Given the description of an element on the screen output the (x, y) to click on. 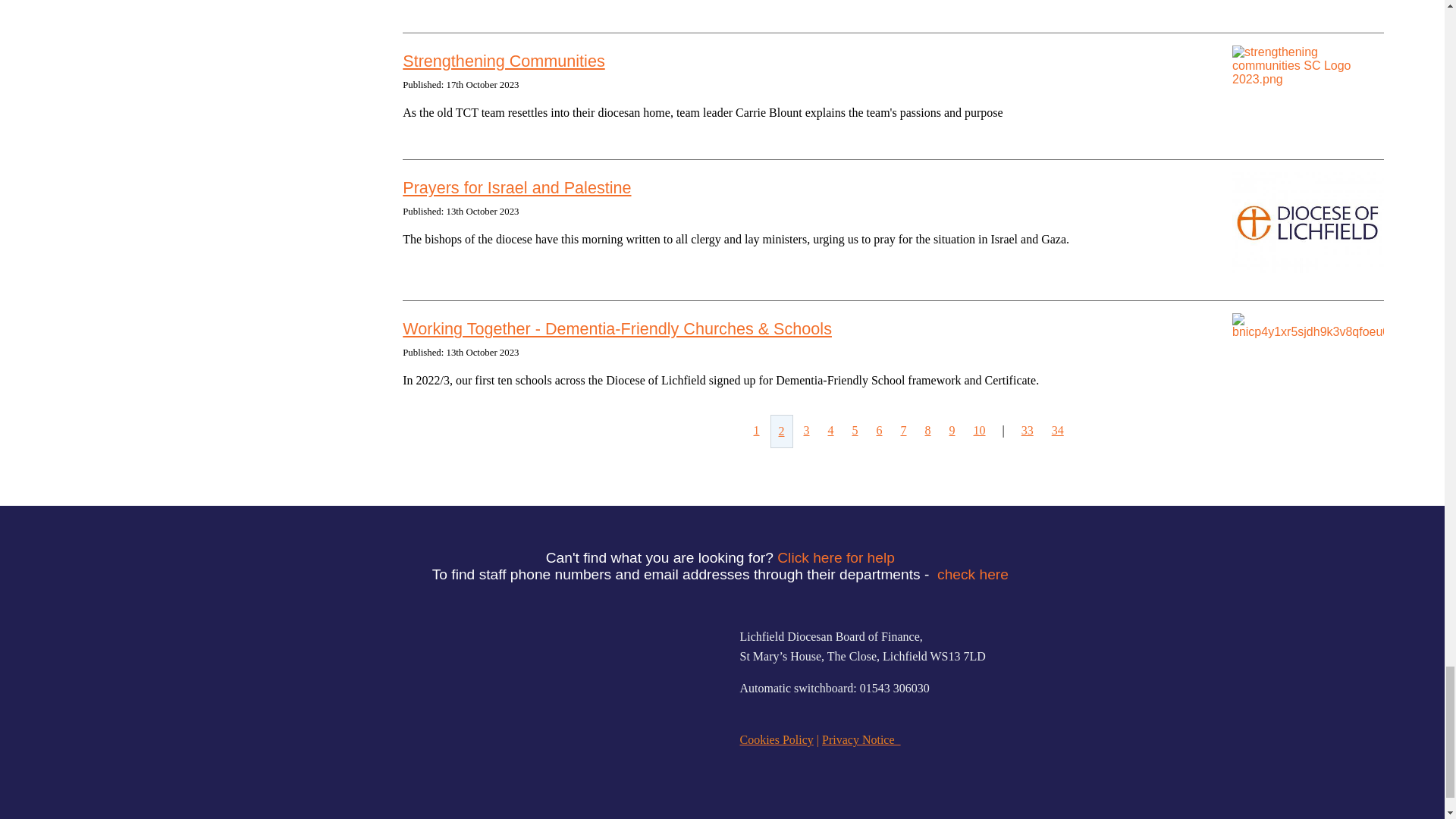
Logo (497, 688)
